Given the description of an element on the screen output the (x, y) to click on. 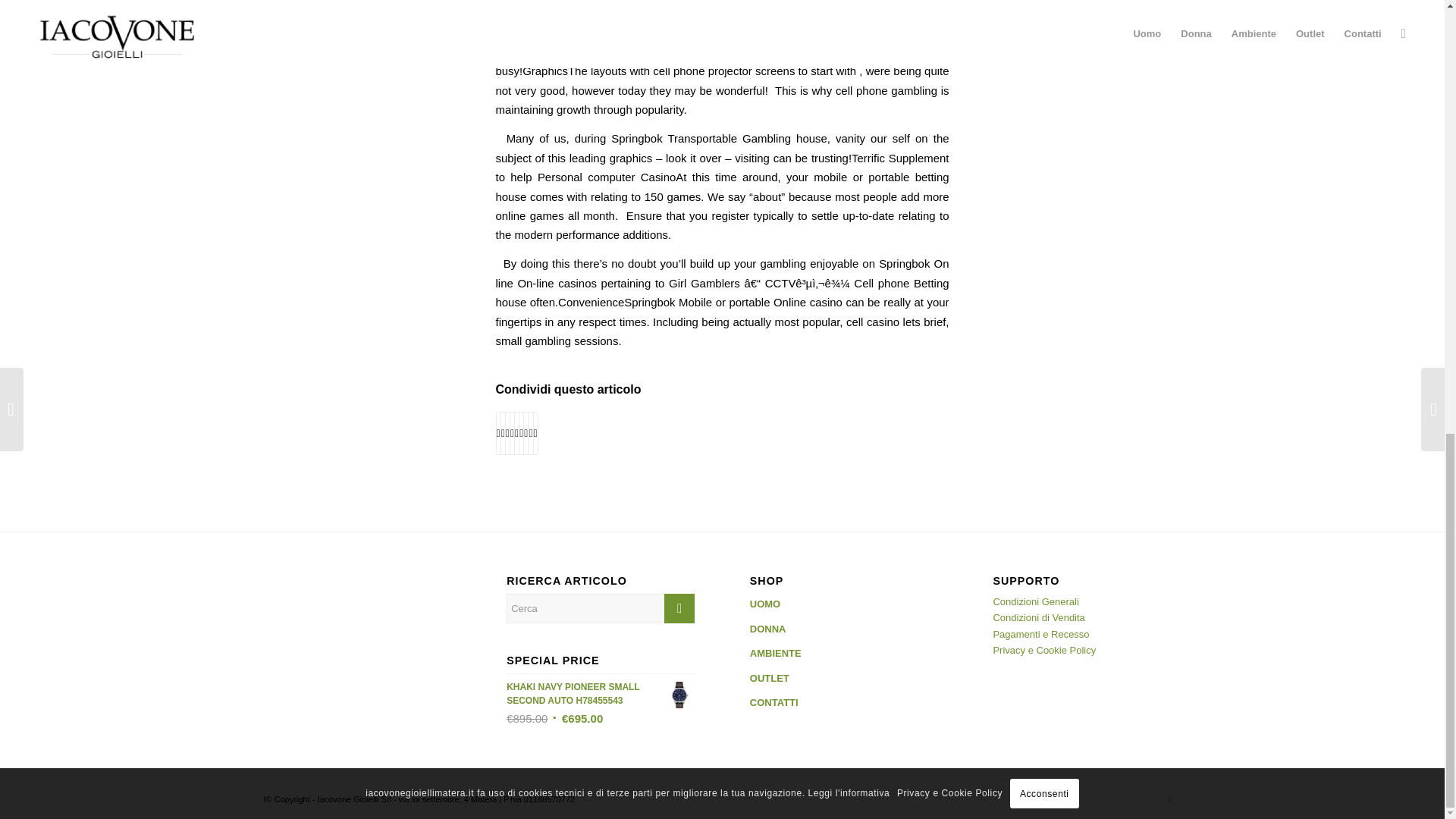
Facebook (1169, 798)
